Given the description of an element on the screen output the (x, y) to click on. 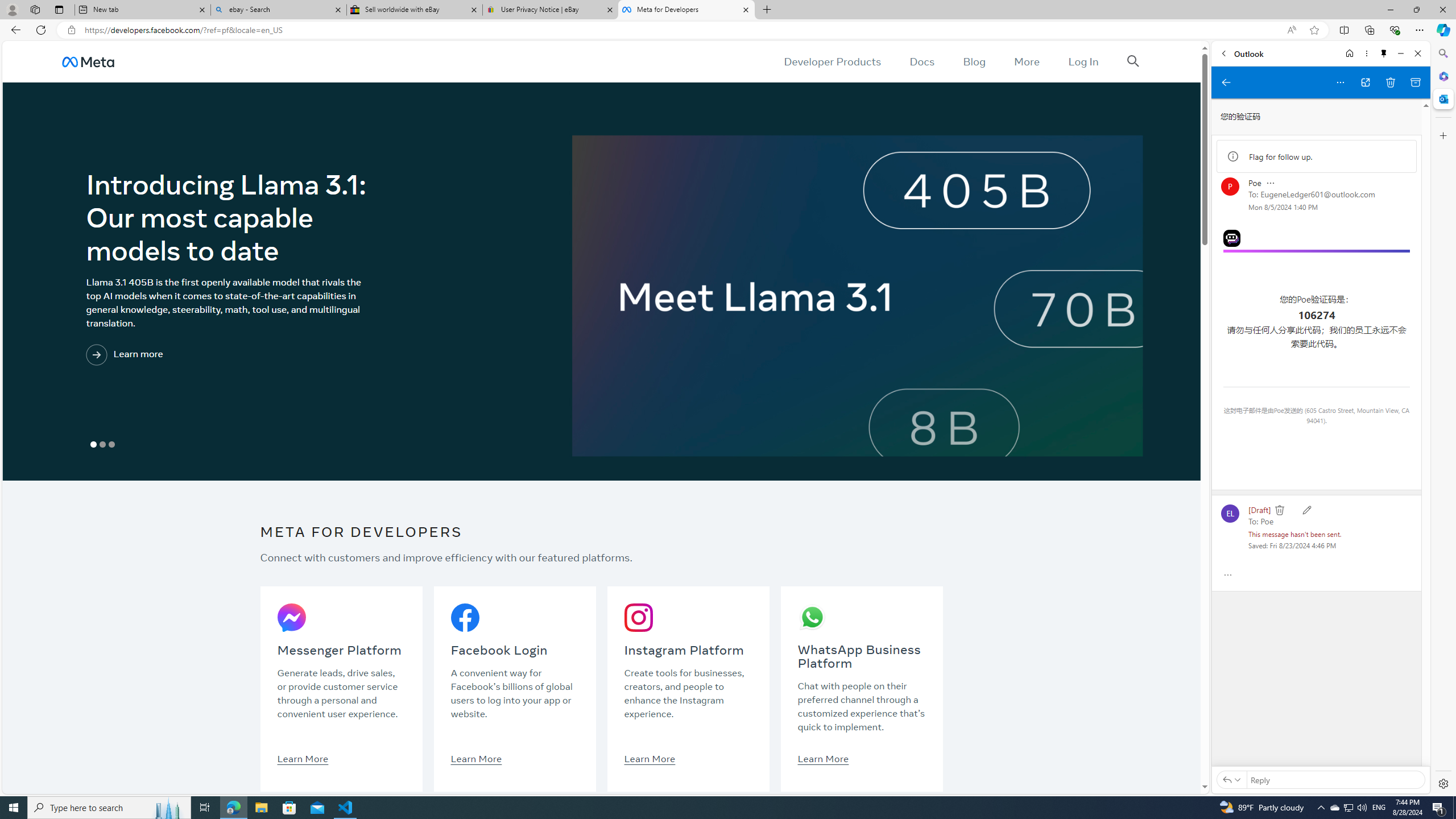
Archive (1414, 82)
Reply (1336, 779)
Draft saved on Fri 8/23/2024 4:46 PM (1291, 545)
Developer Products (832, 61)
Show Slide 1 (93, 444)
Show full message (1227, 574)
Side bar (1443, 418)
